Given the description of an element on the screen output the (x, y) to click on. 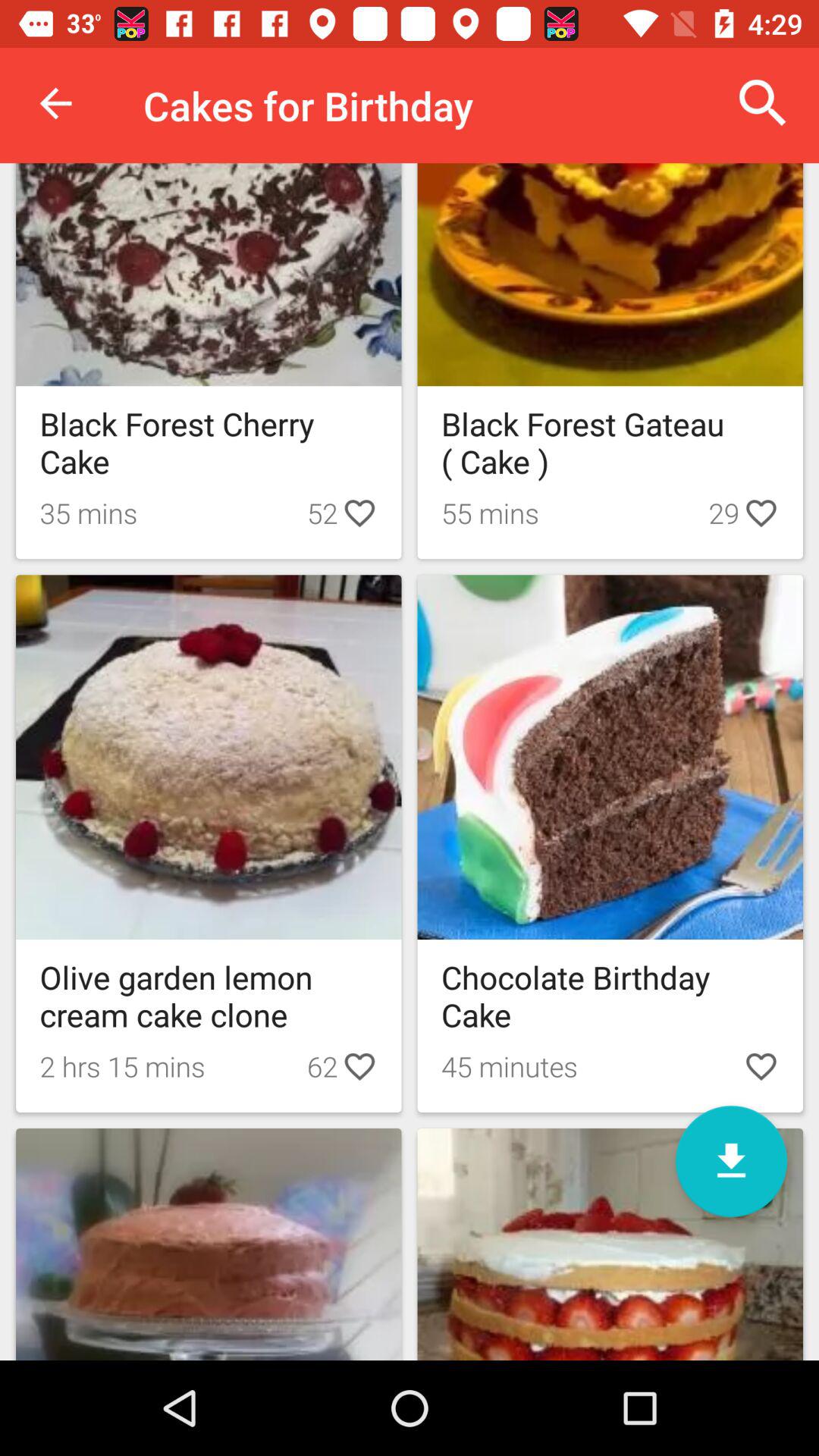
select the second box from first row (610, 361)
click on the black forest cherry cake image option (208, 361)
click on the love icon below the fourth image (760, 1066)
select the image which is above chocolate birthday cake (610, 757)
select the image at the bottom right corner of the page (610, 1243)
